Given the description of an element on the screen output the (x, y) to click on. 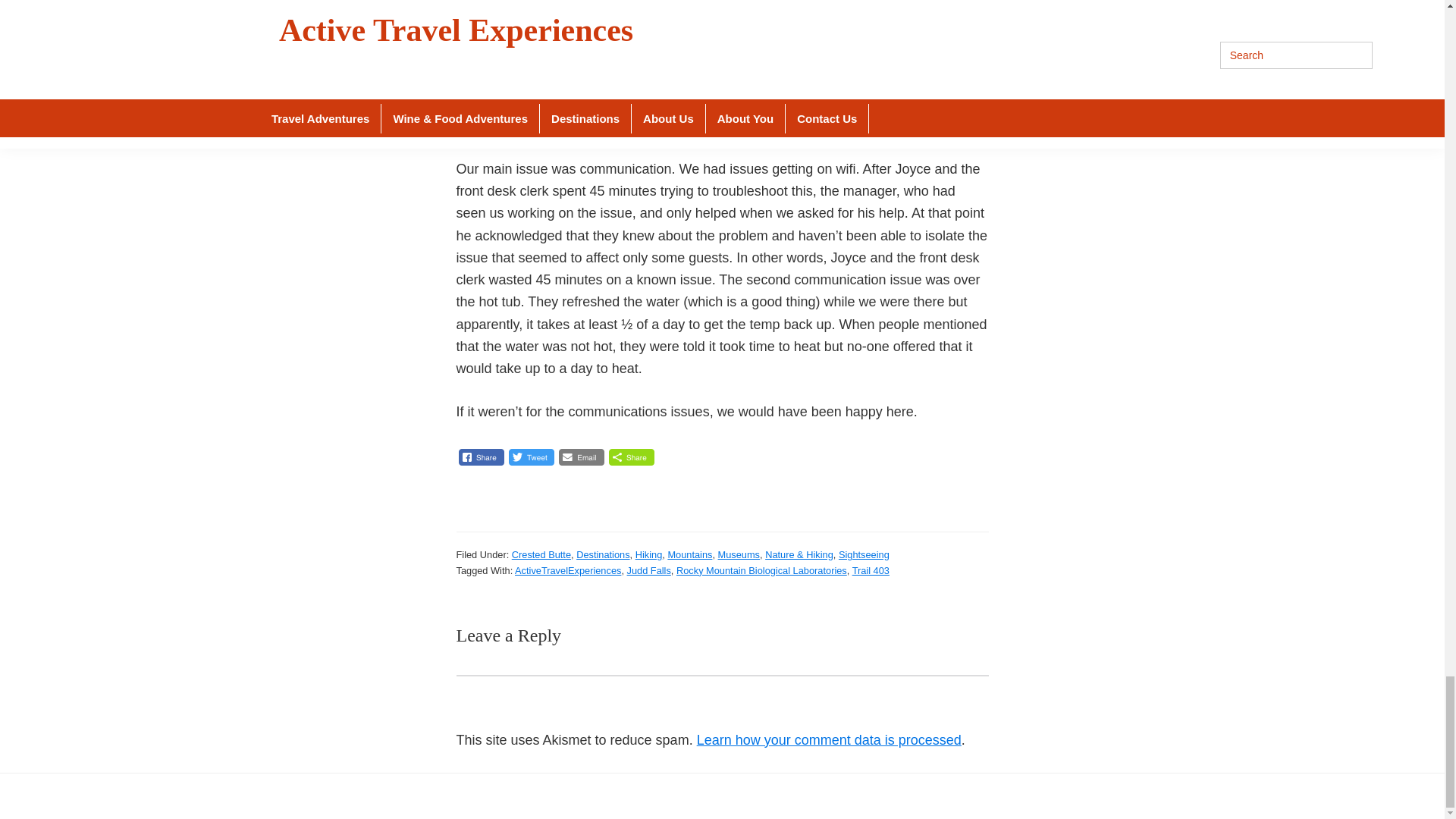
Crested Butte (541, 554)
Hiking (648, 554)
Destinations (602, 554)
Mountains (688, 554)
Sightseeing (863, 554)
Judd Falls (649, 570)
Trail 403 (870, 570)
ActiveTravelExperiences (568, 570)
Rocky Mountain Biological Laboratories (762, 570)
Museums (738, 554)
